Given the description of an element on the screen output the (x, y) to click on. 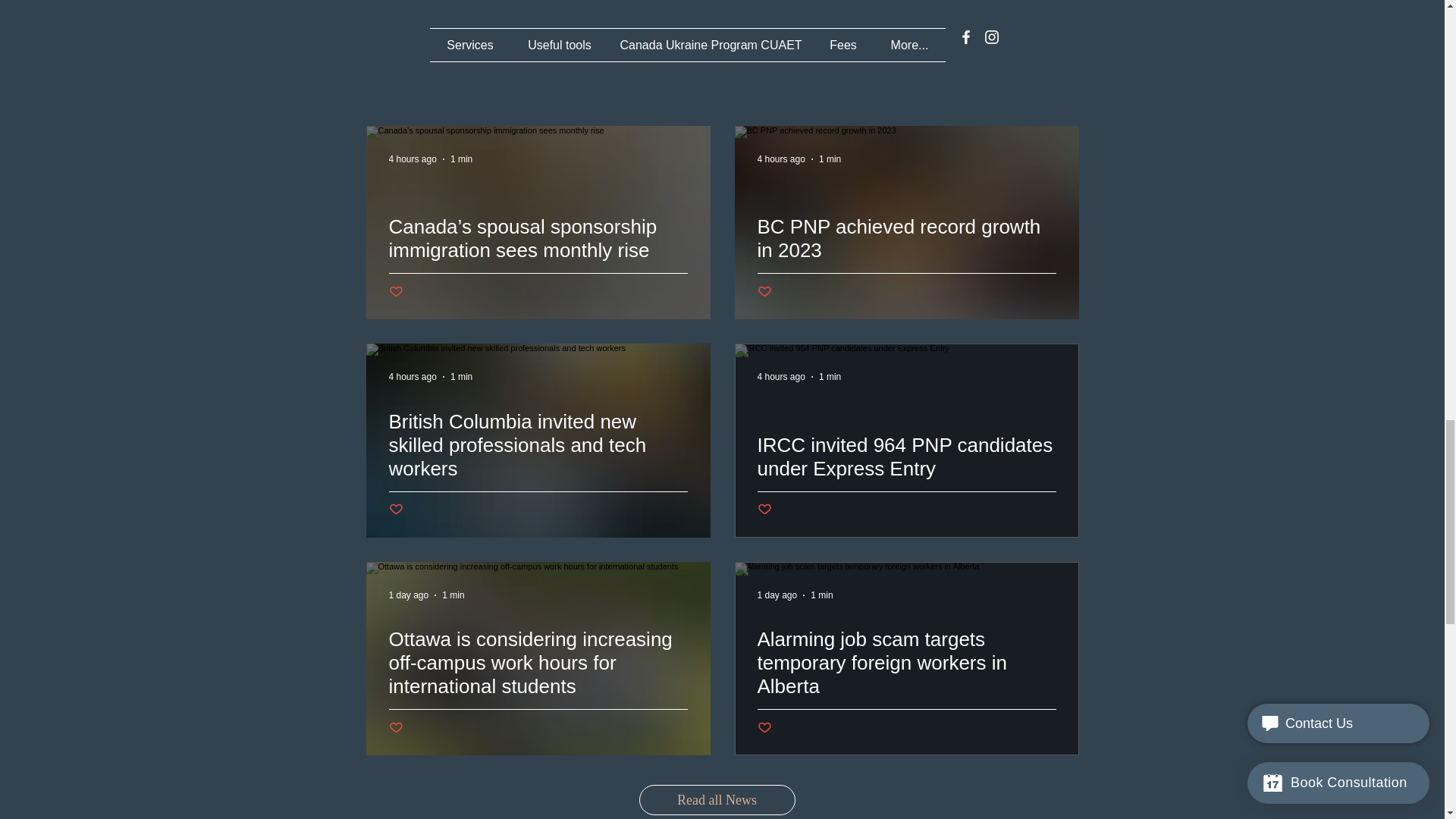
1 min (821, 594)
1 min (829, 158)
1 day ago (776, 594)
1 day ago (408, 594)
1 min (829, 376)
4 hours ago (411, 158)
1 min (460, 158)
1 min (460, 376)
1 min (453, 594)
4 hours ago (411, 376)
4 hours ago (781, 158)
4 hours ago (781, 376)
